Given the description of an element on the screen output the (x, y) to click on. 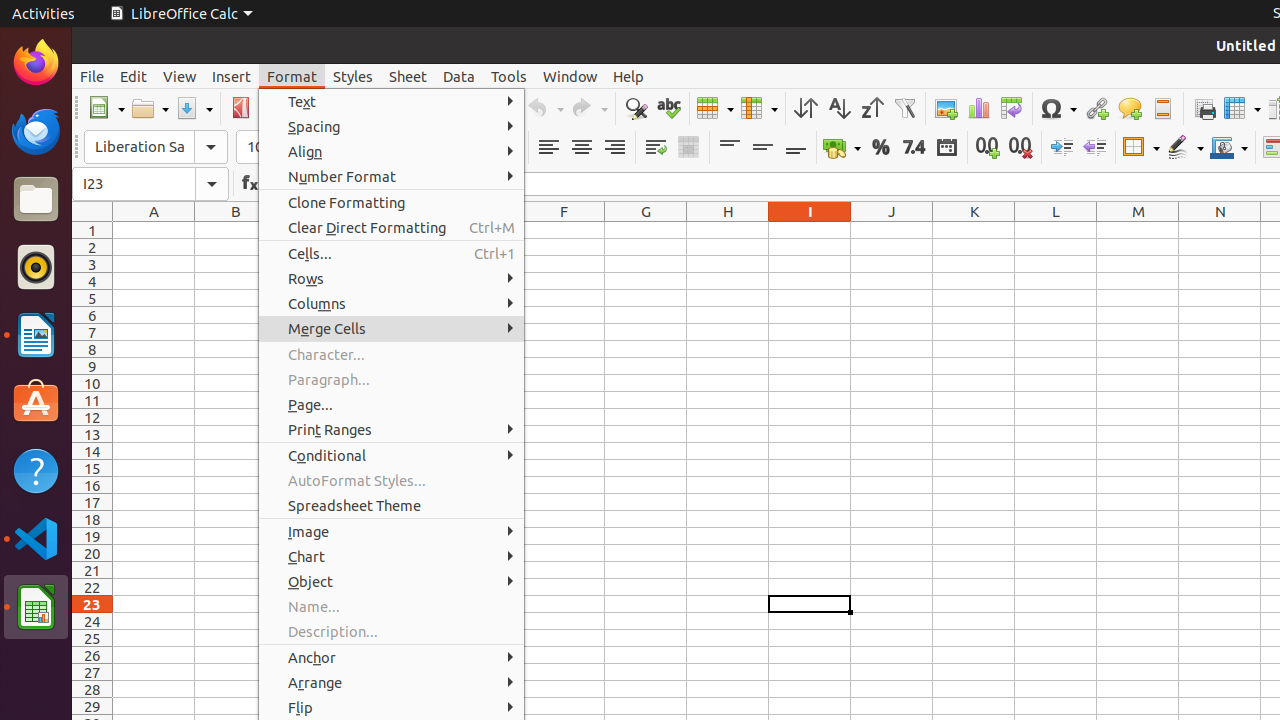
Open Element type: push-button (150, 108)
Rows Element type: menu (391, 278)
Format Element type: menu (292, 76)
Window Element type: menu (570, 76)
Sort Element type: push-button (805, 108)
